Given the description of an element on the screen output the (x, y) to click on. 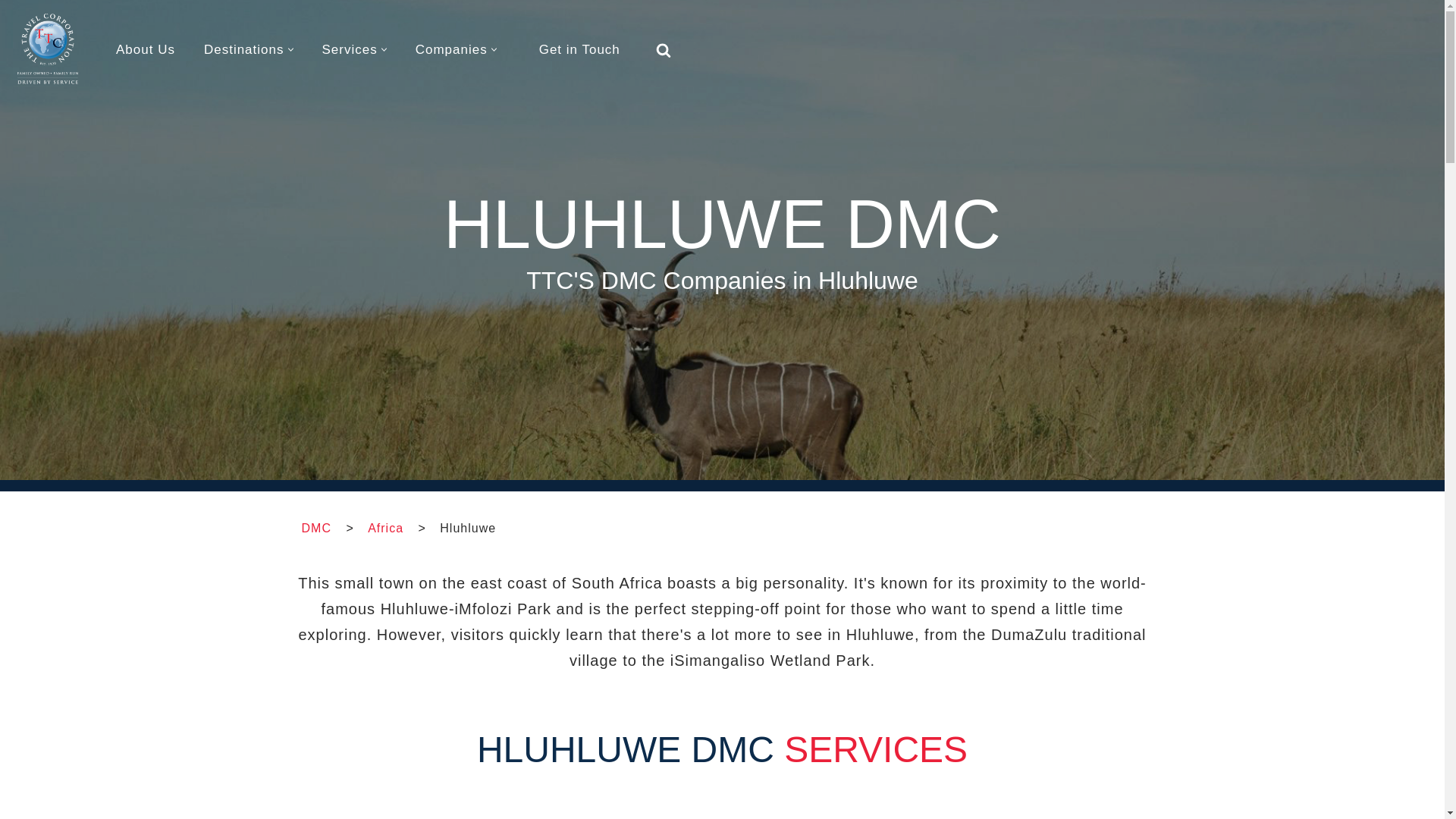
Skip to content (11, 31)
Destinations (243, 49)
About Us (145, 49)
Go to TTC Destination Management Company. (316, 526)
Go to the Africa Continent archives. (385, 526)
Companies (450, 49)
Services (349, 49)
